Given the description of an element on the screen output the (x, y) to click on. 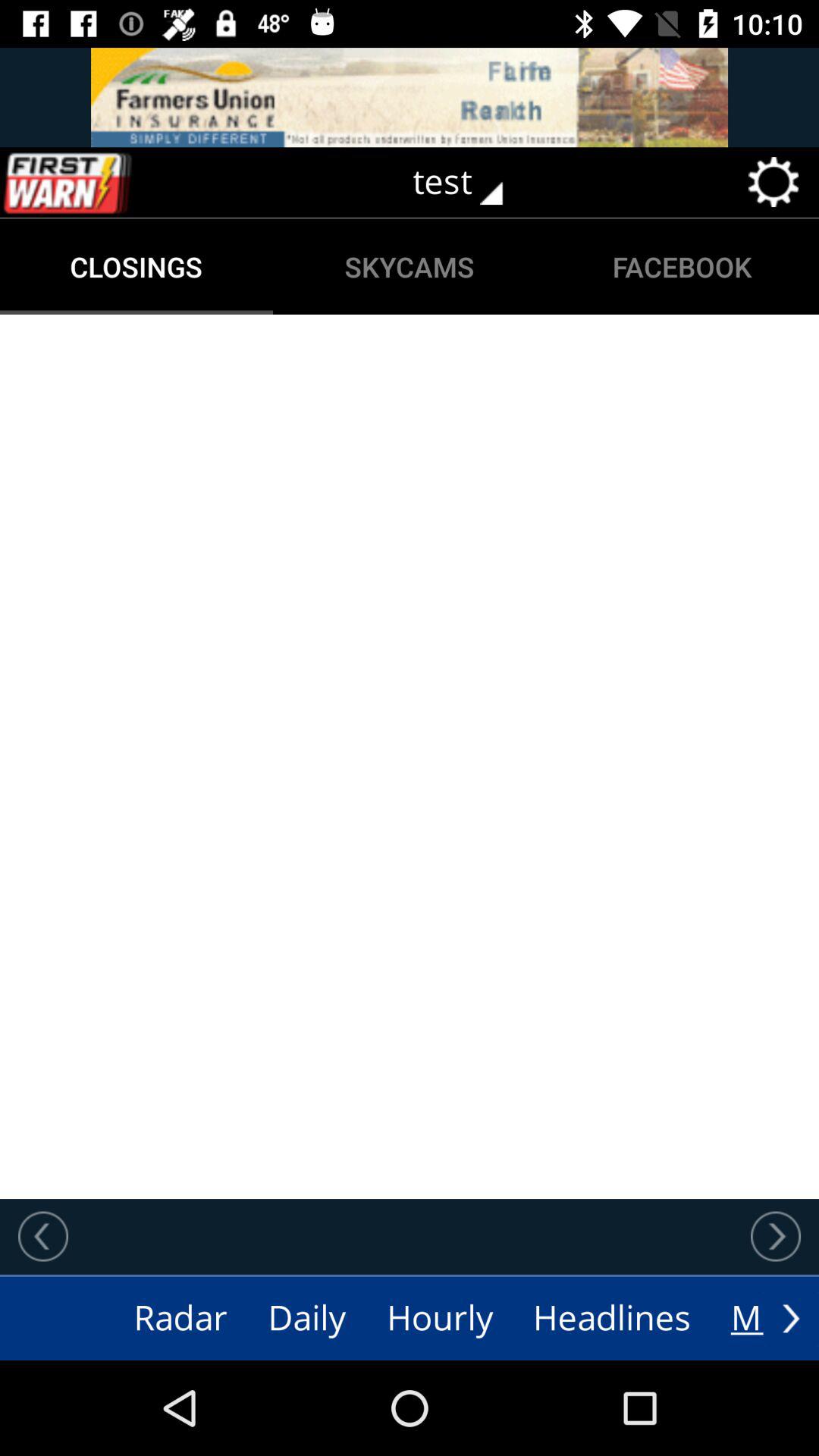
watch the add (409, 97)
